Given the description of an element on the screen output the (x, y) to click on. 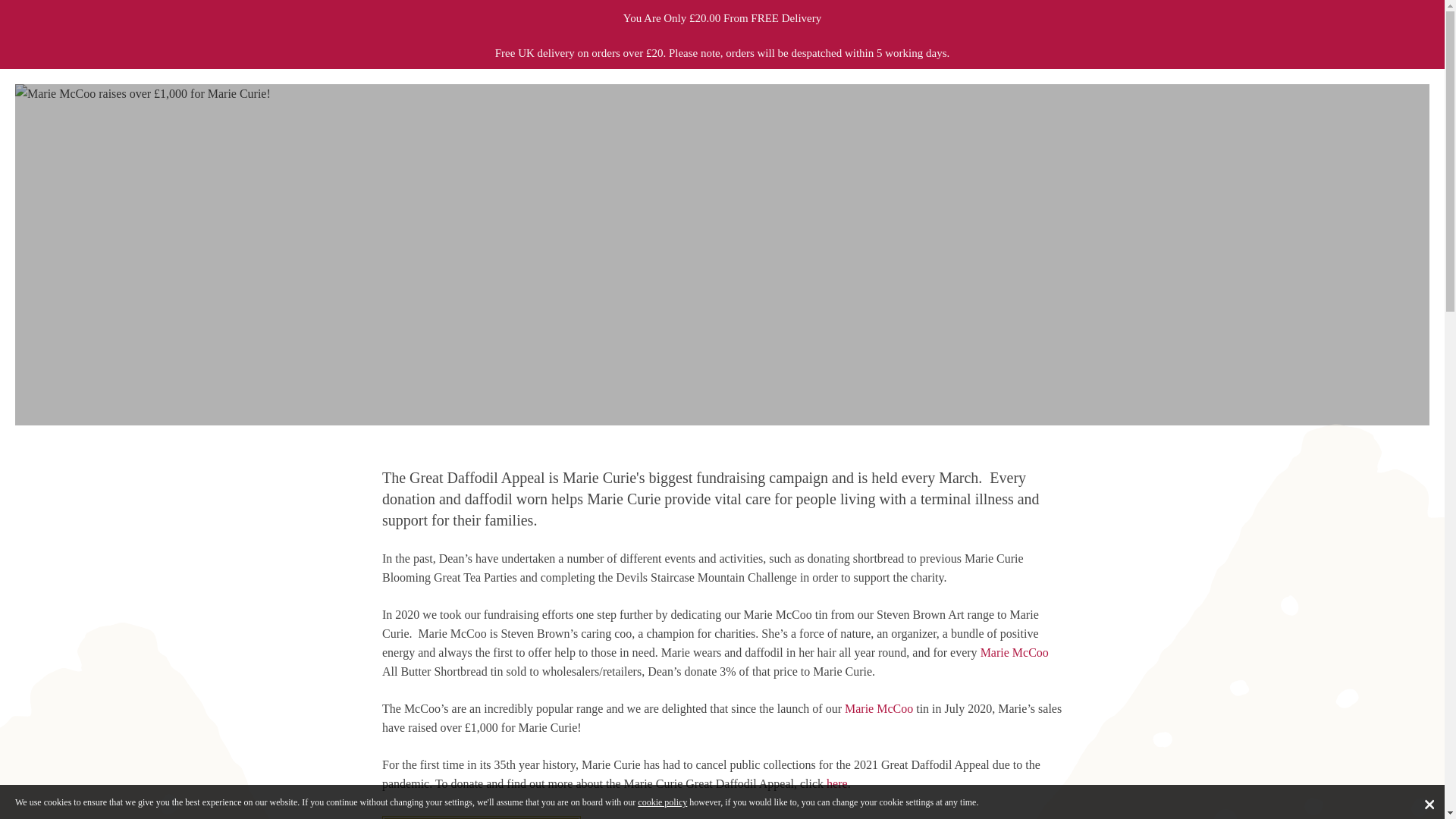
Marie McCoo (1013, 652)
Marie McCoo (878, 707)
here (837, 783)
